Given the description of an element on the screen output the (x, y) to click on. 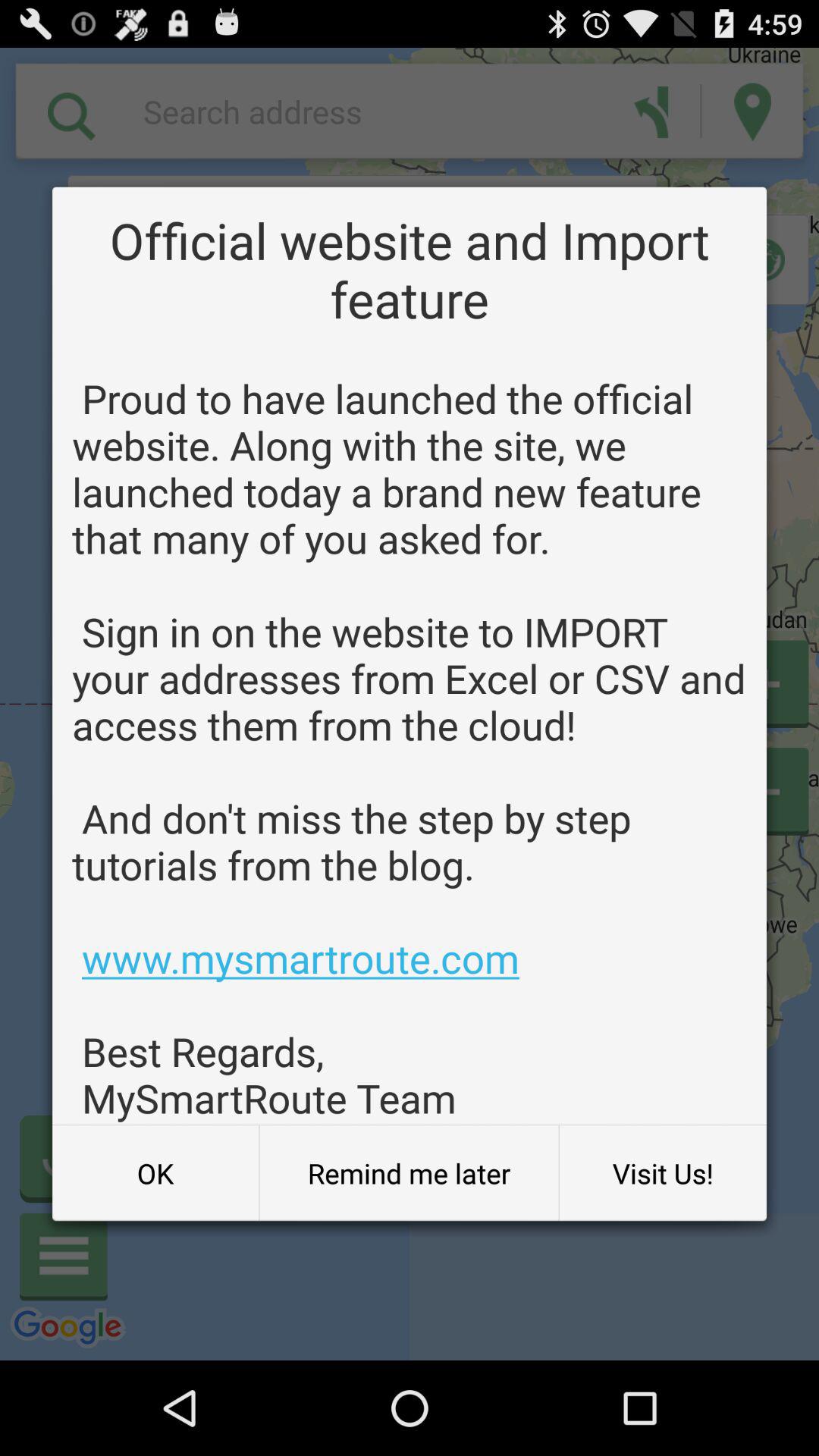
turn on the button to the left of the remind me later button (155, 1173)
